Given the description of an element on the screen output the (x, y) to click on. 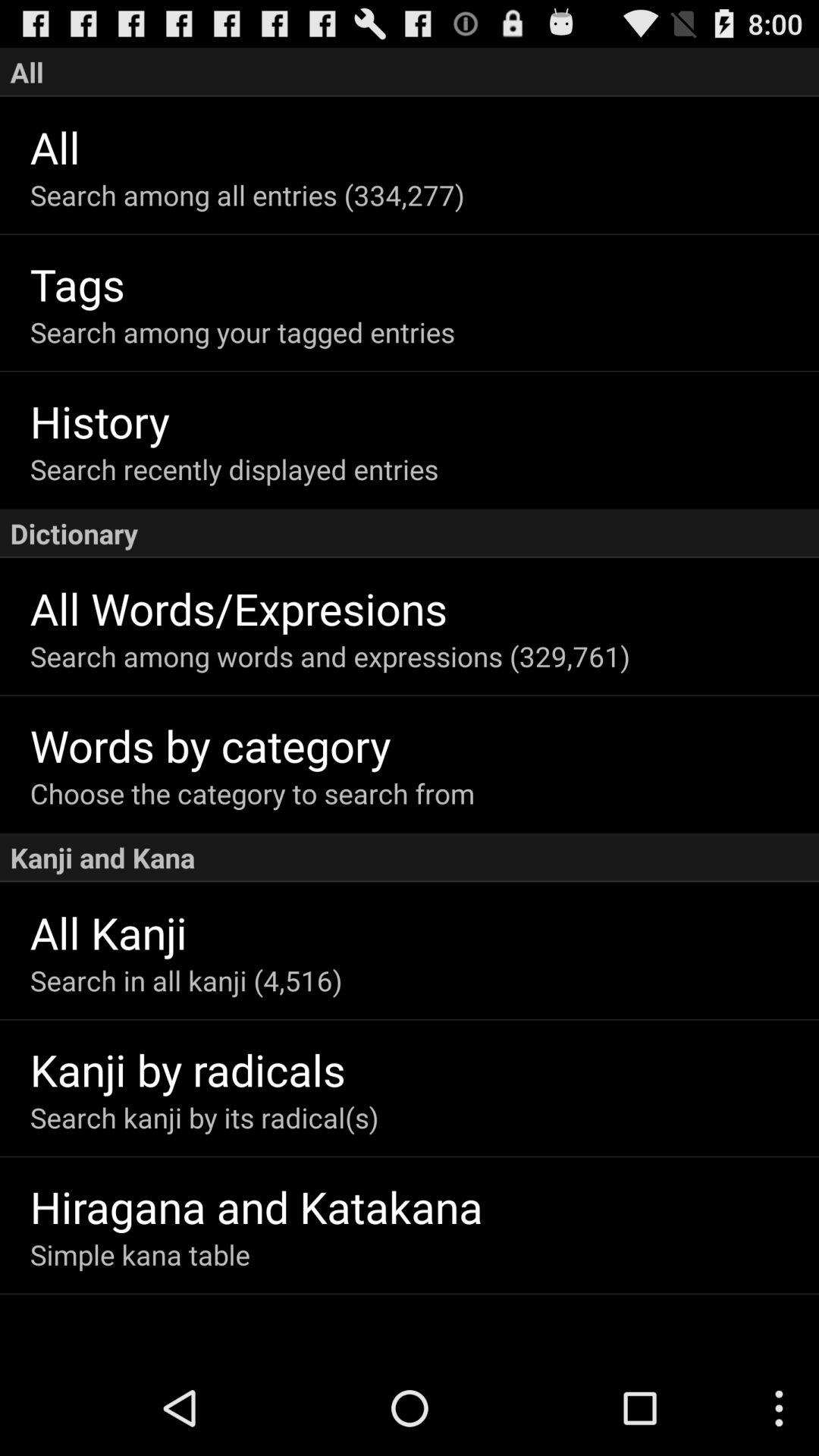
click history app (424, 420)
